Given the description of an element on the screen output the (x, y) to click on. 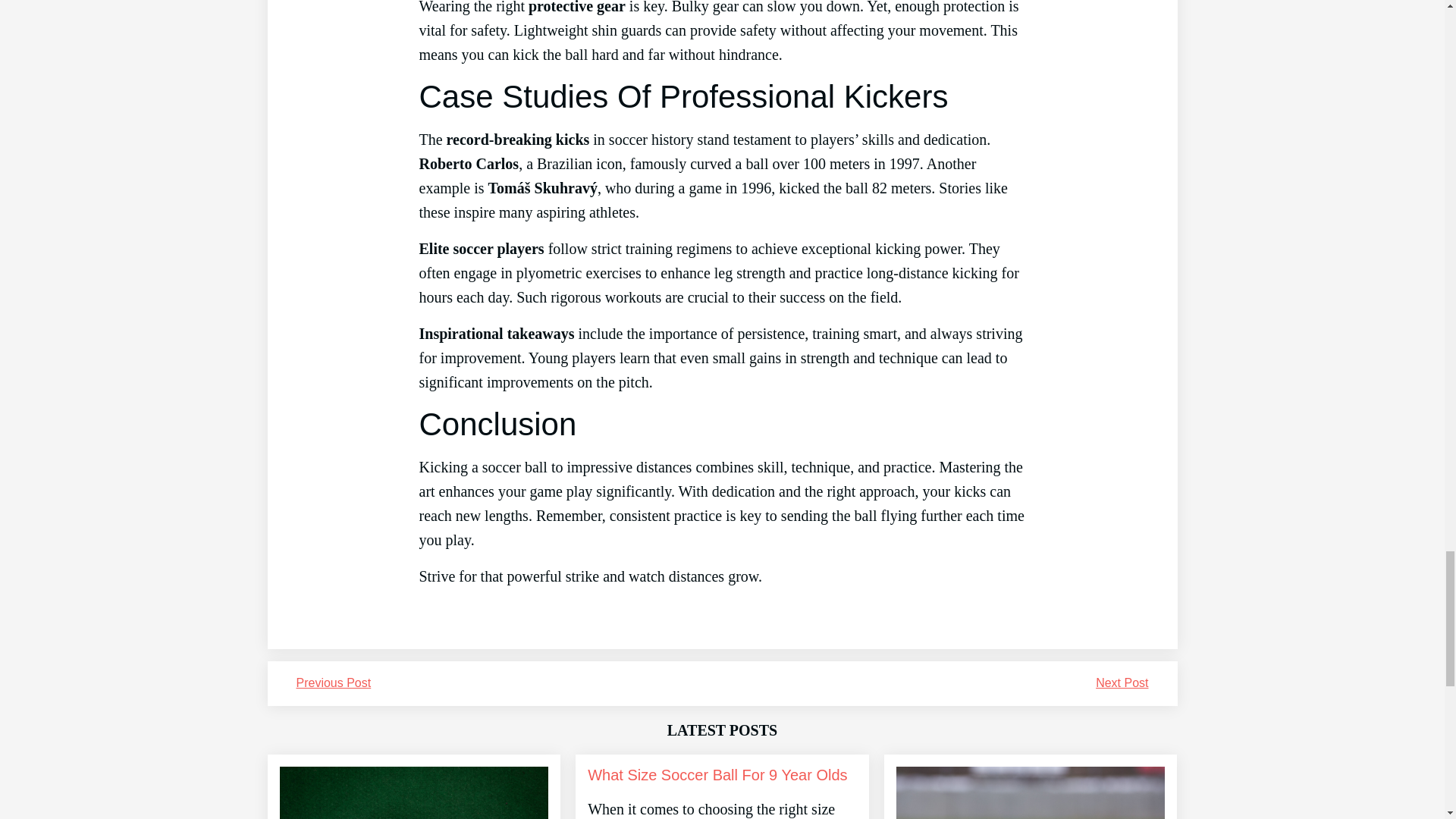
Previous Post (333, 682)
Next Post (1122, 682)
What Size Soccer Ball For 9 Year Olds (717, 774)
